Given the description of an element on the screen output the (x, y) to click on. 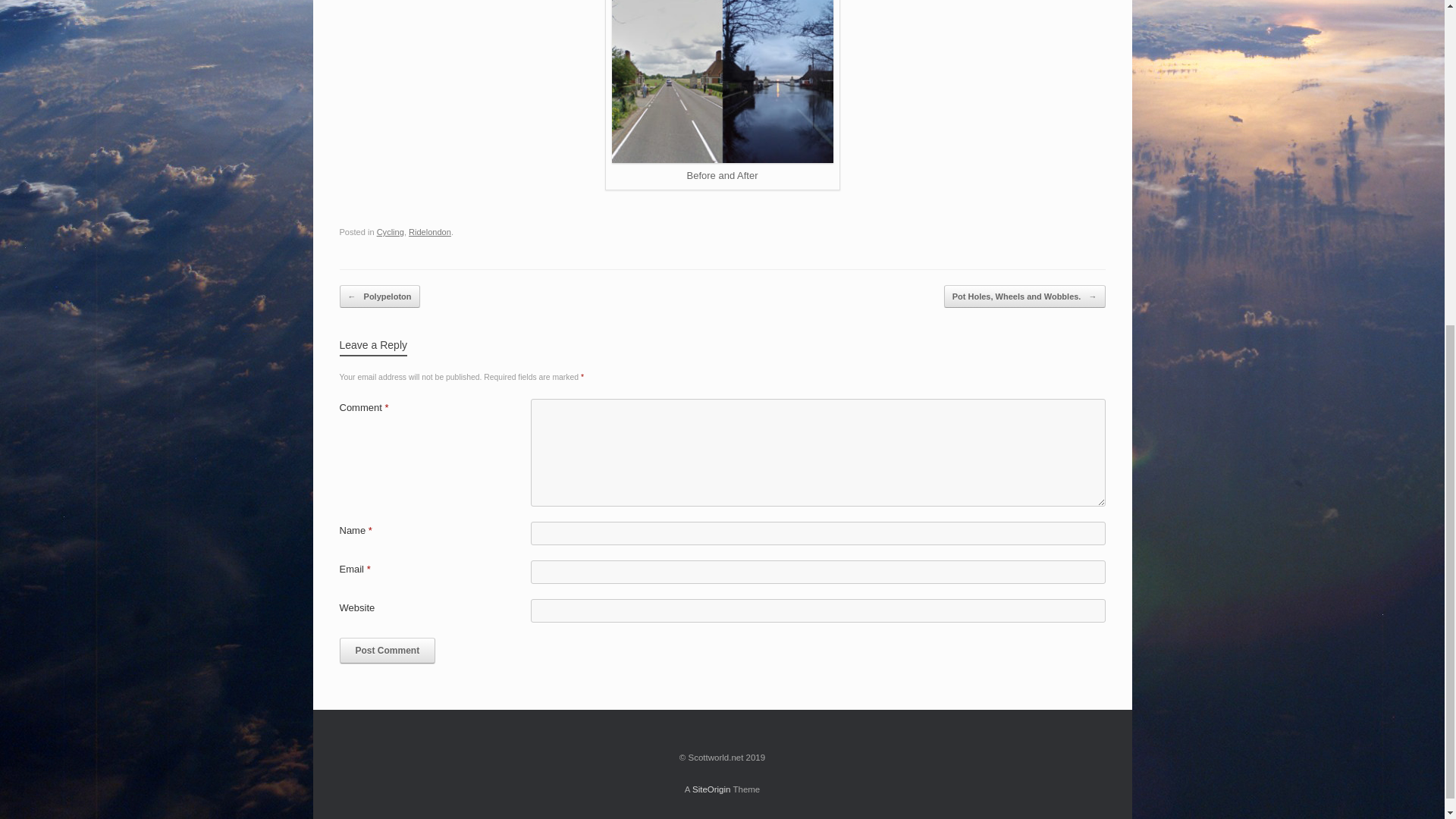
Ridelondon (430, 231)
Post Comment (387, 650)
Cycling (390, 231)
Post Comment (387, 650)
SiteOrigin (711, 788)
